Given the description of an element on the screen output the (x, y) to click on. 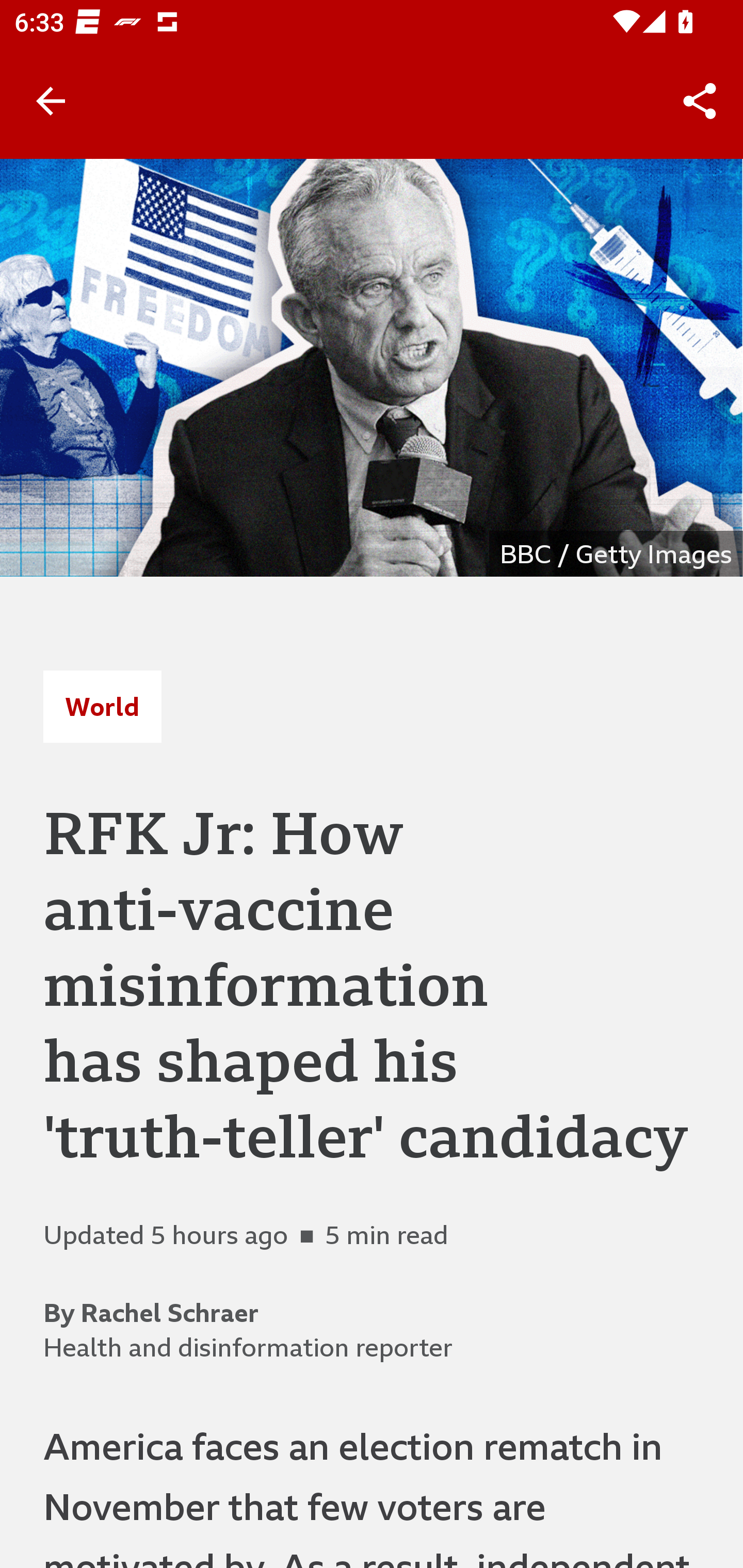
Back (50, 101)
Share (699, 101)
World (102, 706)
